Given the description of an element on the screen output the (x, y) to click on. 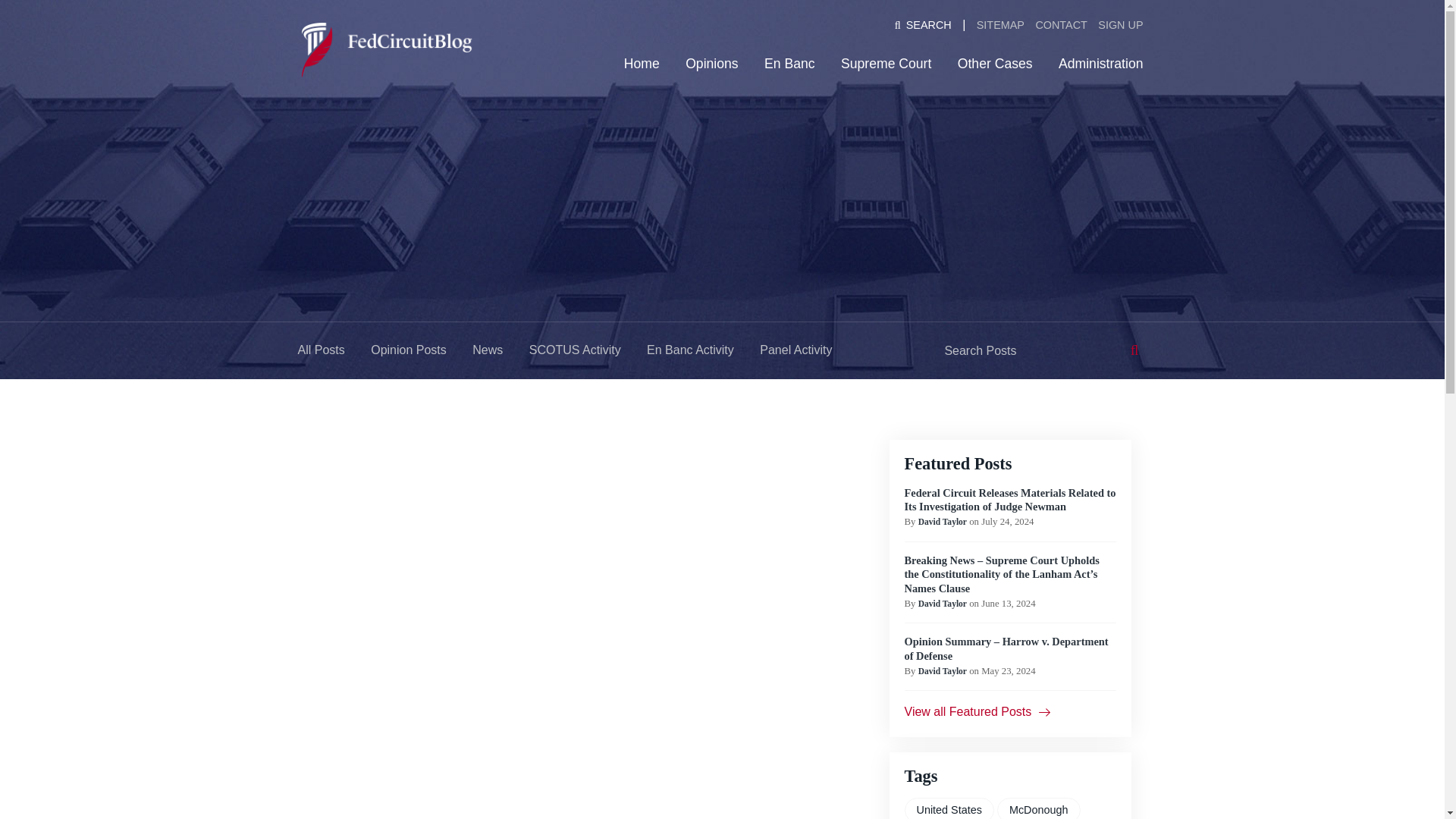
Supreme Court (886, 63)
Administration (1100, 63)
SIGN UP (1120, 25)
All Posts (321, 350)
Opinions (711, 63)
En Banc (789, 63)
SEARCH (923, 25)
Other Cases (995, 63)
En Banc Activity (689, 350)
News (487, 350)
